Given the description of an element on the screen output the (x, y) to click on. 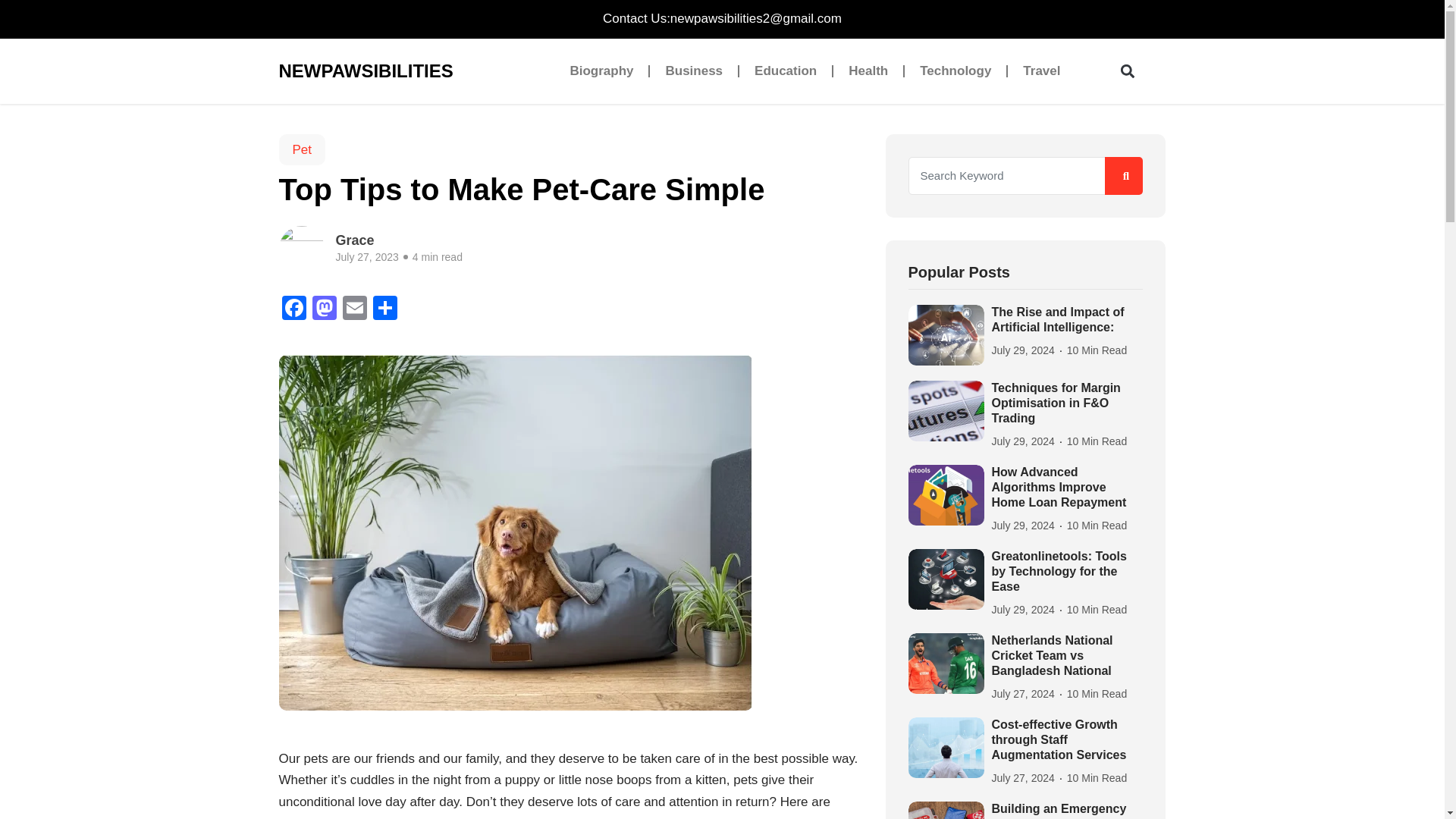
Health (867, 71)
Technology (955, 71)
NEWPAWSIBILITIES (361, 71)
Pet (302, 149)
Email (354, 309)
Travel (1041, 71)
Mastodon (323, 309)
Education (785, 71)
Biography (600, 71)
Business (693, 71)
Facebook (293, 309)
